Given the description of an element on the screen output the (x, y) to click on. 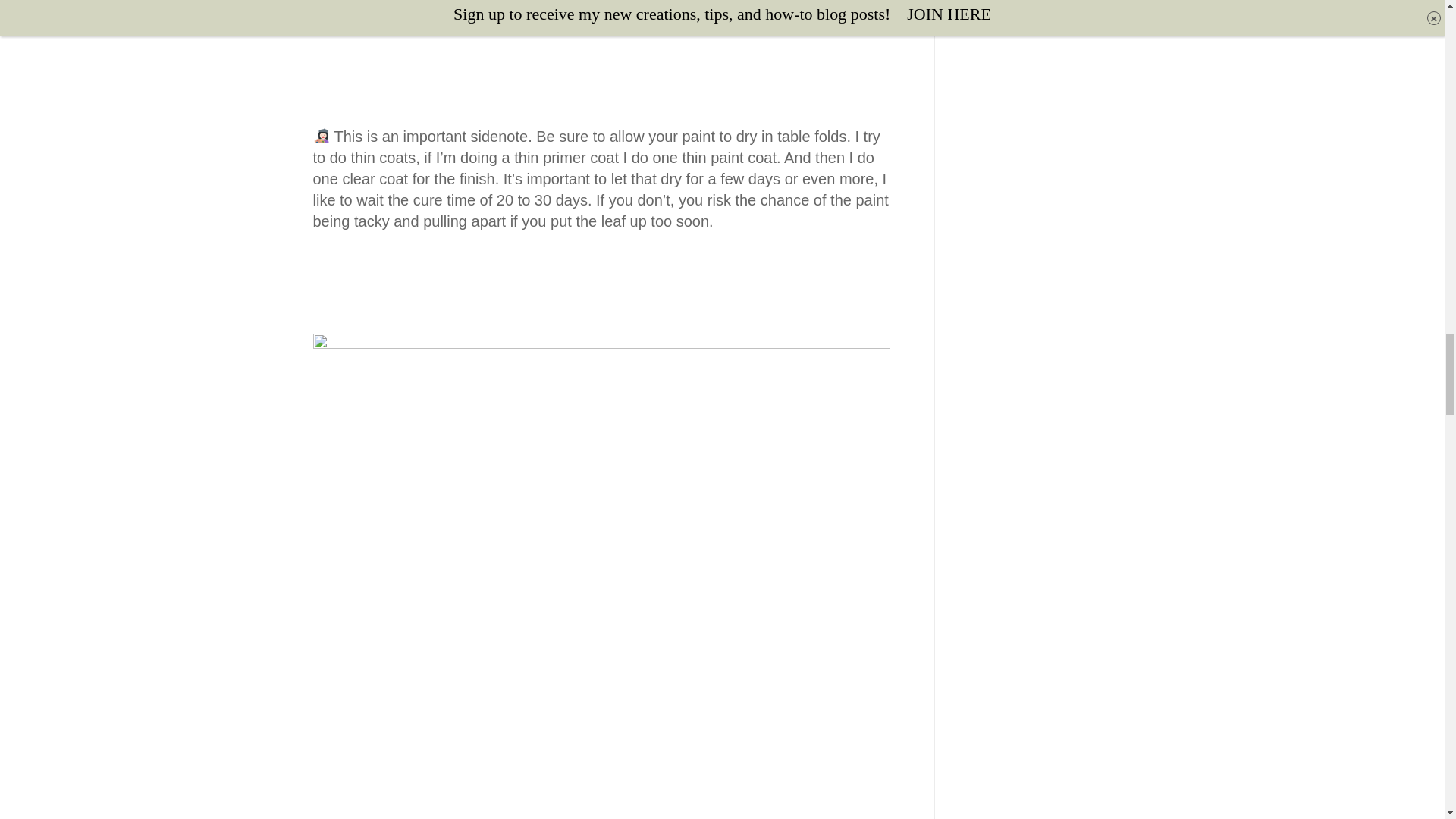
BDB4F048-840A-4968-8D7C-361F7D658796 (398, 12)
